Given the description of an element on the screen output the (x, y) to click on. 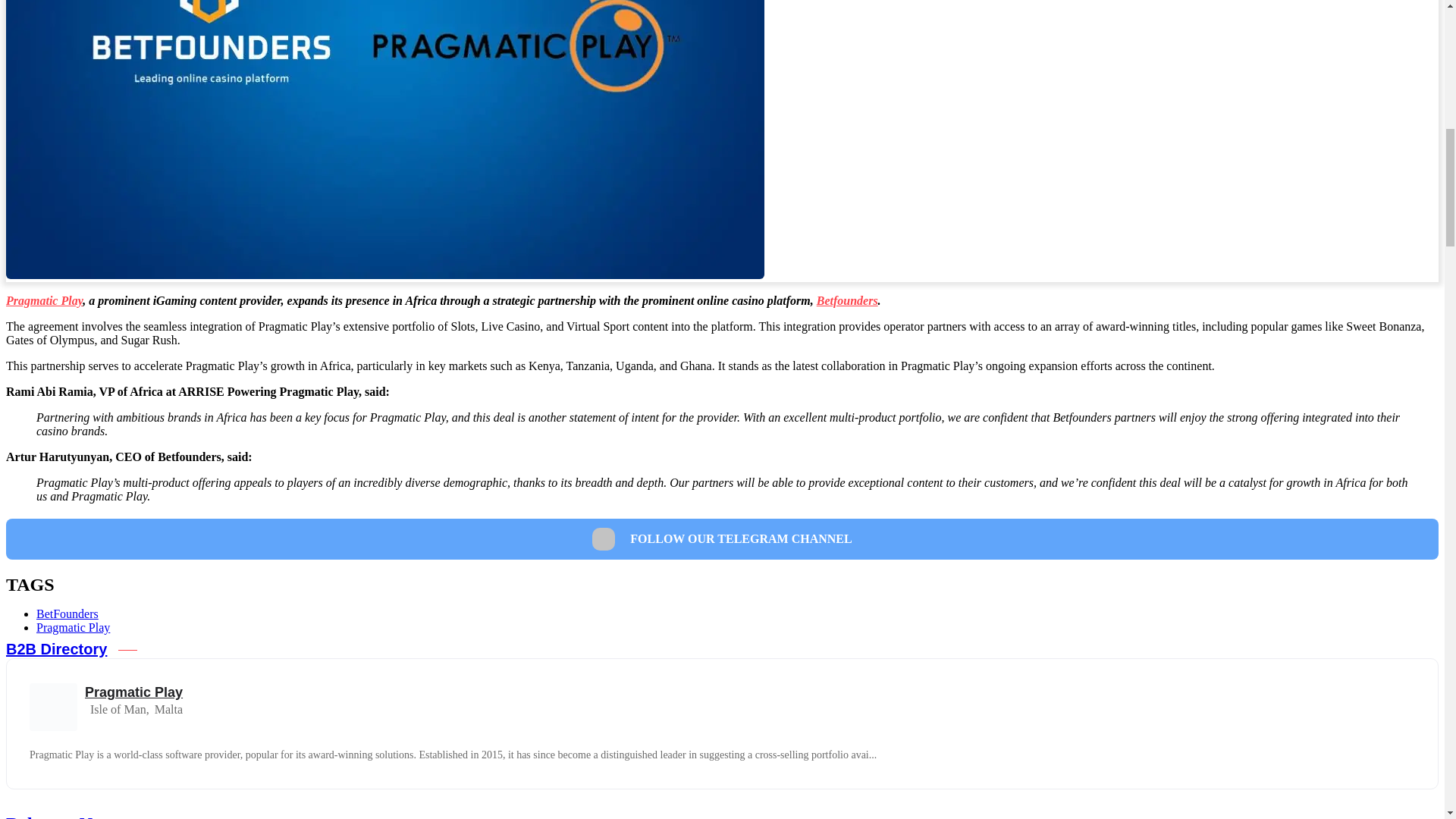
Pragmatic Play (73, 626)
BetFounders (67, 613)
B2B Directory (55, 648)
Betfounders (846, 300)
Pragmatic Play (133, 692)
Pragmatic Play (43, 300)
Relevant News (62, 816)
